Given the description of an element on the screen output the (x, y) to click on. 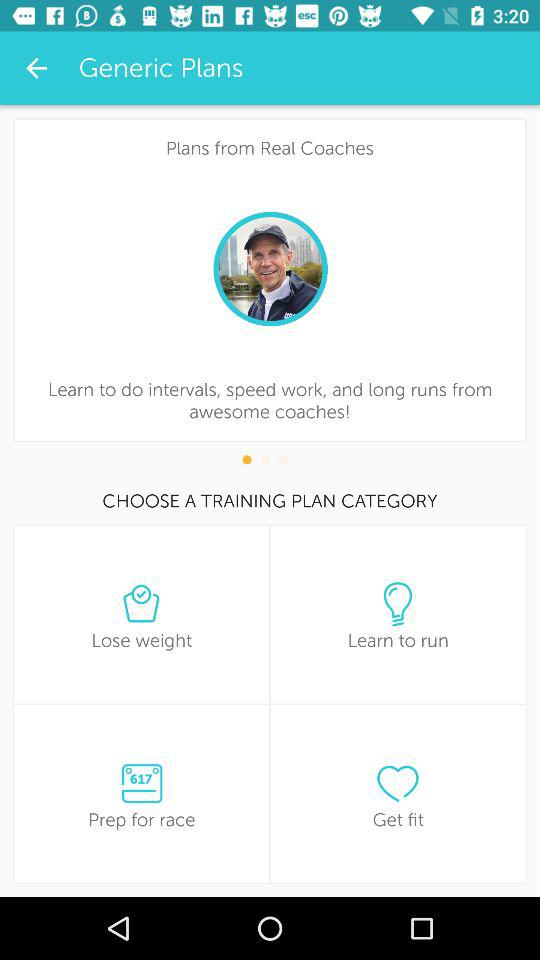
choose the first logo on the screen (141, 603)
